Given the description of an element on the screen output the (x, y) to click on. 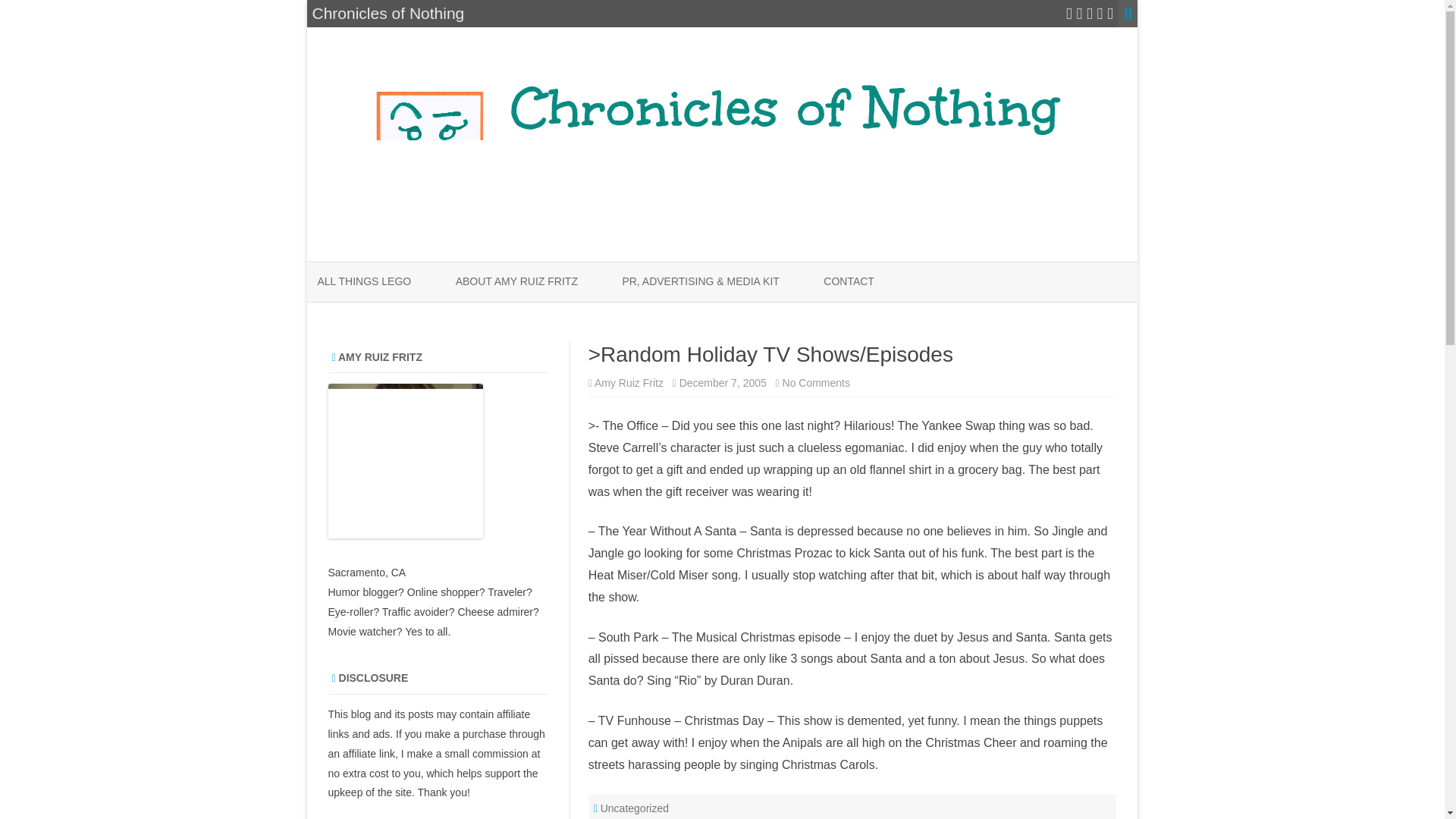
Amy Ruiz Fritz (628, 382)
ALL THINGS LEGO (363, 282)
ABOUT AMY RUIZ FRITZ (516, 282)
CONTACT (849, 282)
Uncategorized (633, 808)
